Given the description of an element on the screen output the (x, y) to click on. 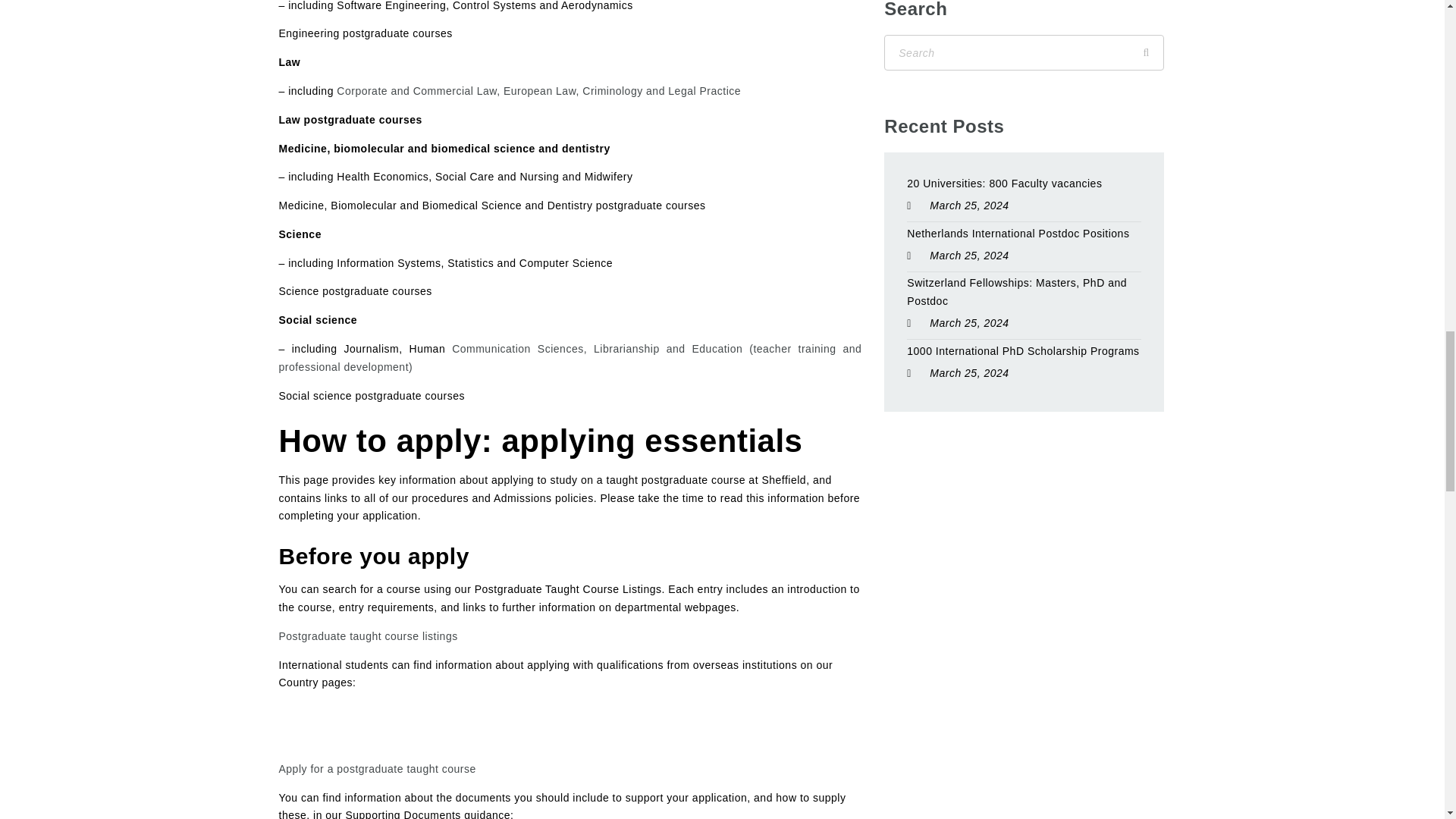
Search (1145, 52)
